Given the description of an element on the screen output the (x, y) to click on. 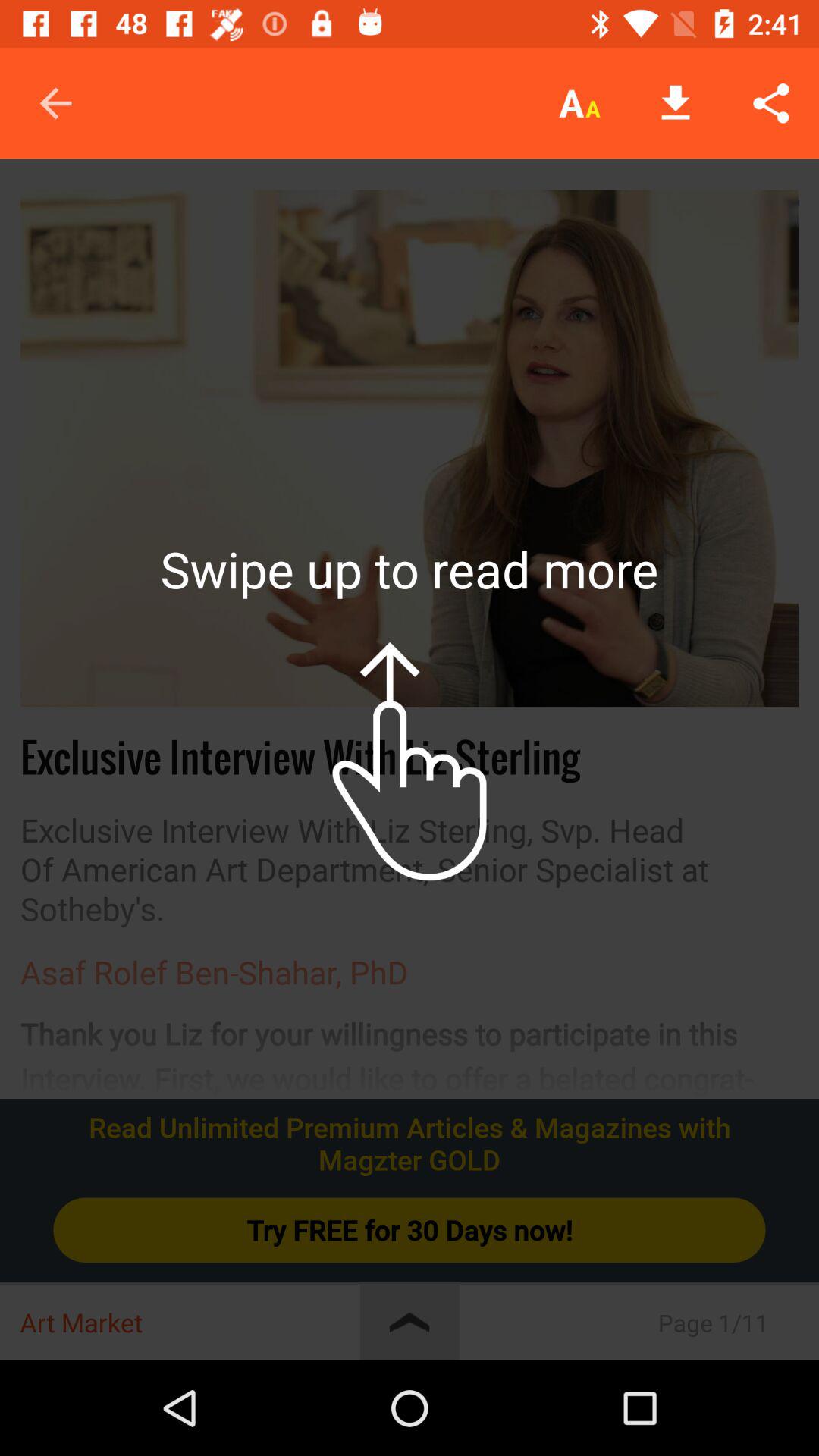
swipe to the try free for icon (409, 1229)
